Given the description of an element on the screen output the (x, y) to click on. 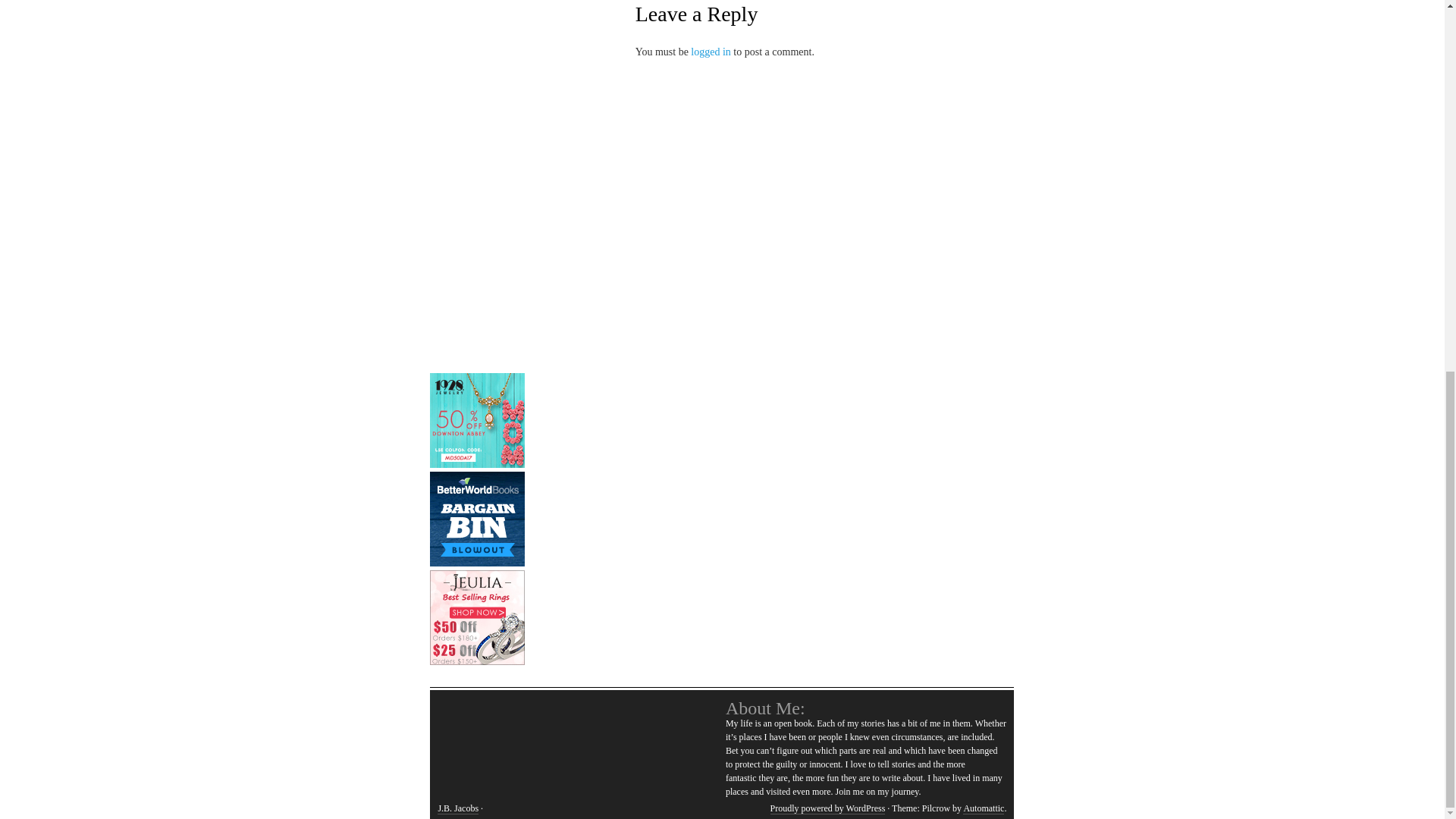
logged in (710, 51)
J.B. Jacobs (458, 808)
Automattic (983, 808)
Proudly powered by WordPress (827, 808)
A Semantic Personal Publishing Platform (827, 808)
J.B. Jacobs (458, 808)
